Given the description of an element on the screen output the (x, y) to click on. 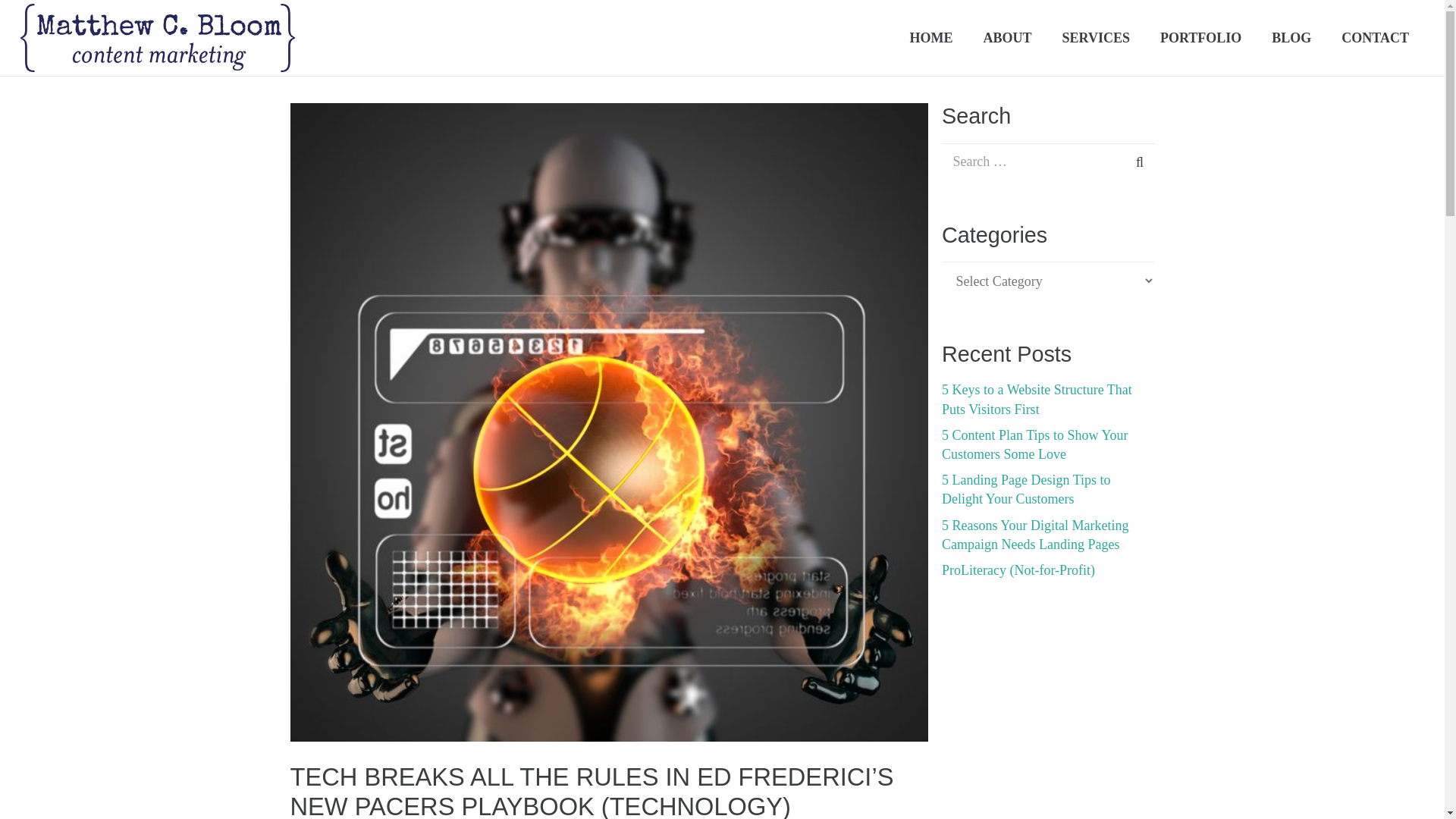
ABOUT (1007, 38)
PORTFOLIO (1200, 38)
5 Landing Page Design Tips to Delight Your Customers (1026, 489)
CONTACT (1374, 38)
HOME (930, 38)
BLOG (1291, 38)
Search (1129, 161)
5 Keys to a Website Structure That Puts Visitors First (1037, 399)
5 Content Plan Tips to Show Your Customers Some Love (1035, 444)
